Given the description of an element on the screen output the (x, y) to click on. 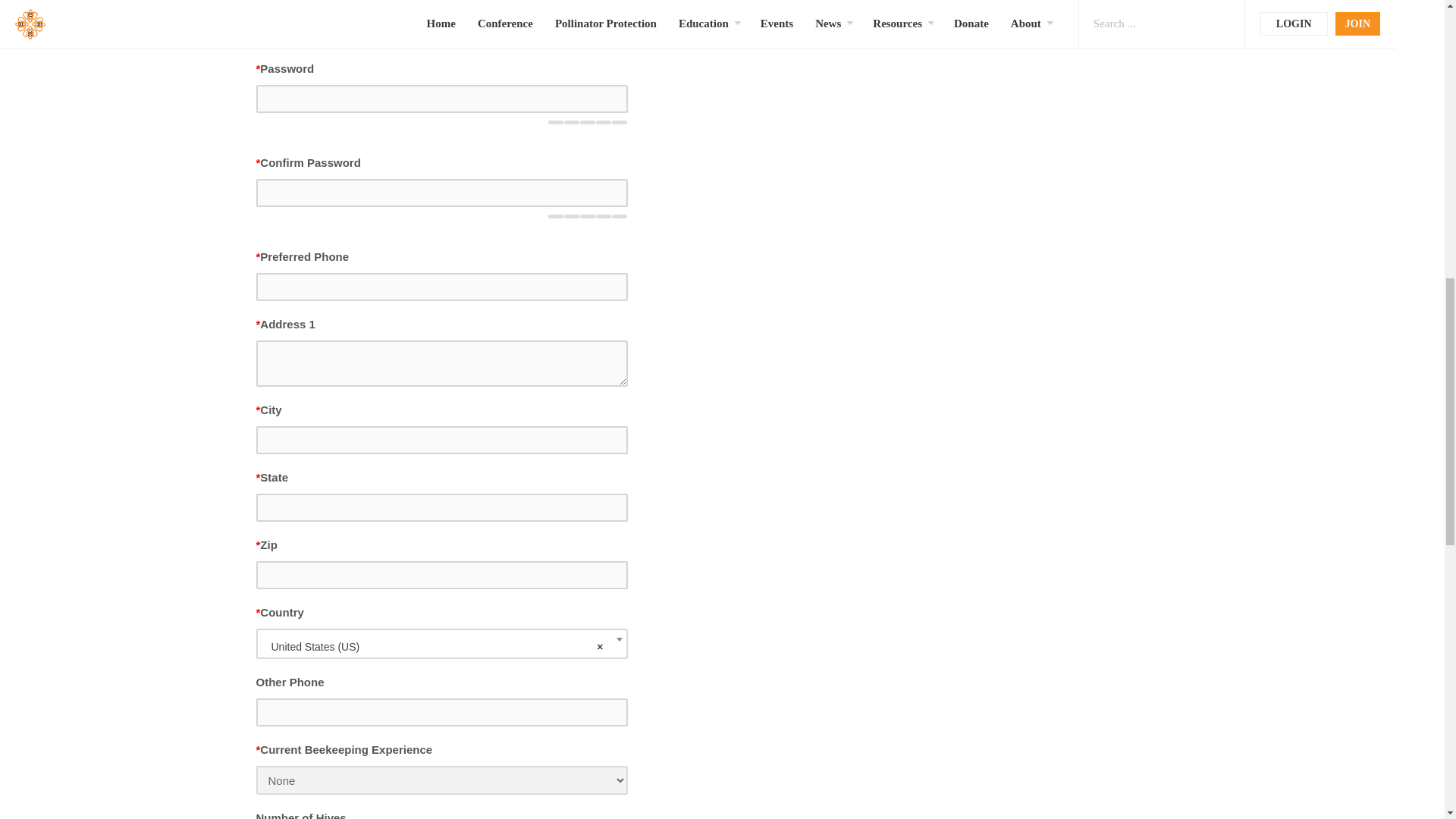
Remove all items (599, 646)
